Given the description of an element on the screen output the (x, y) to click on. 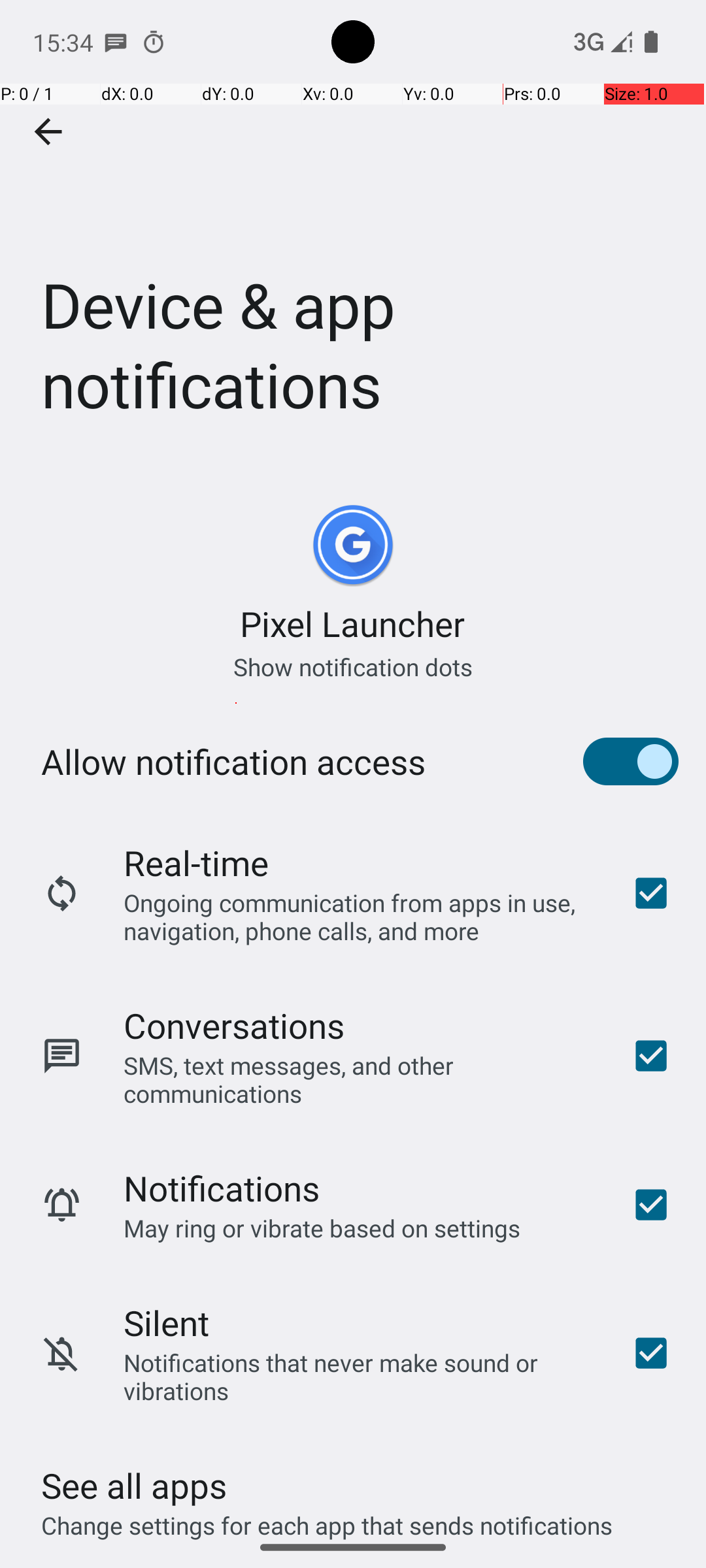
Show notification dots Element type: android.widget.TextView (352, 666)
